Given the description of an element on the screen output the (x, y) to click on. 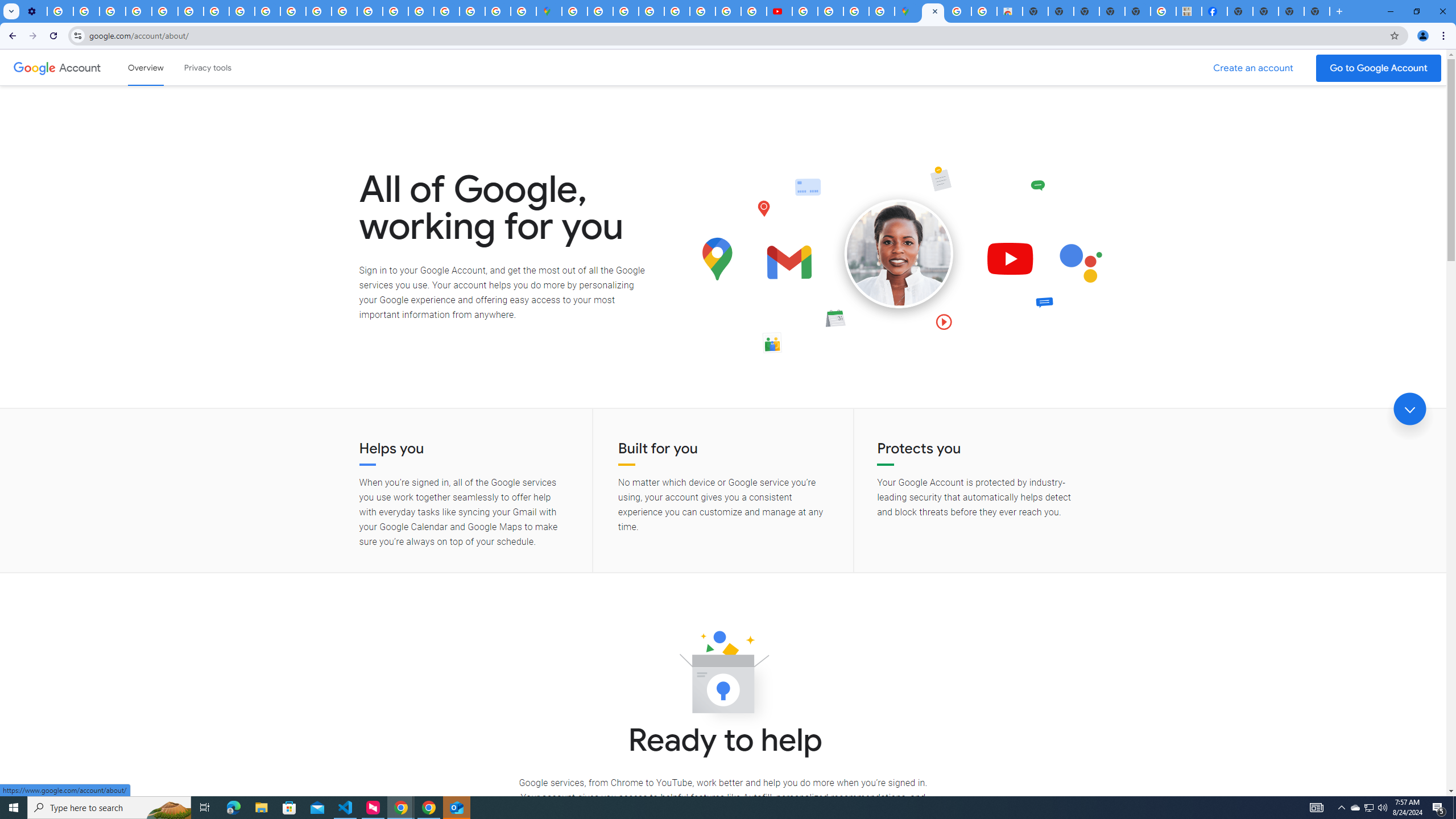
Learn how to find your photos - Google Photos Help (86, 11)
Sign in - Google Accounts (600, 11)
Create a Google Account (1253, 67)
Settings - Customize profile (34, 11)
Privacy Checkup (266, 11)
Ready to help (722, 675)
Subscriptions - YouTube (779, 11)
Privacy Checkup (293, 11)
Google Account overview (145, 67)
